Given the description of an element on the screen output the (x, y) to click on. 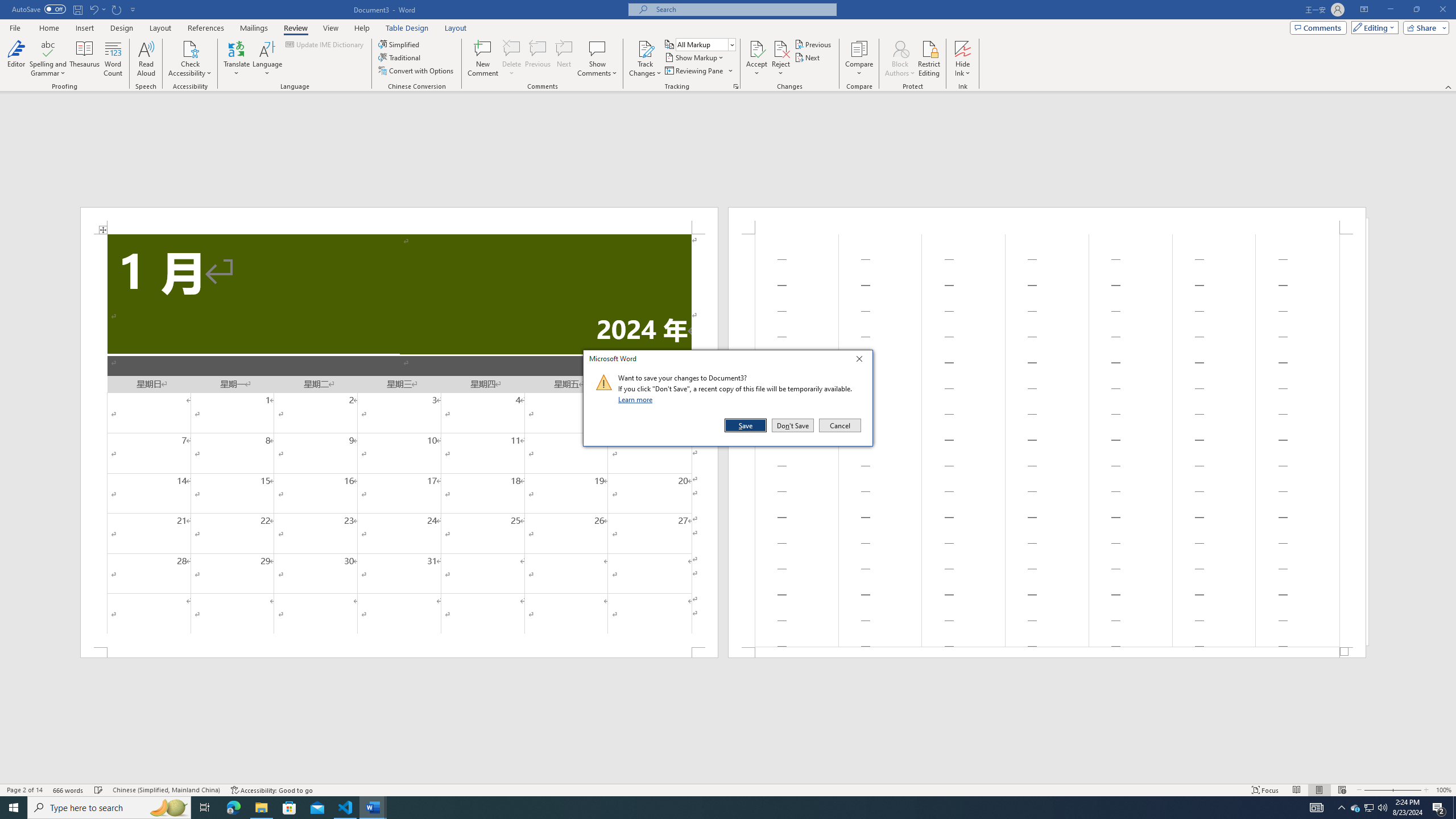
Q2790: 100% (1382, 807)
Accept (756, 58)
Simplified (400, 44)
Microsoft Edge (233, 807)
Show Comments (597, 58)
Block Authors (900, 58)
User Promoted Notification Area (1368, 807)
Spelling and Grammar Check Checking (98, 790)
Reviewing Pane (698, 69)
Thesaurus... (84, 58)
Change Tracking Options... (735, 85)
